Given the description of an element on the screen output the (x, y) to click on. 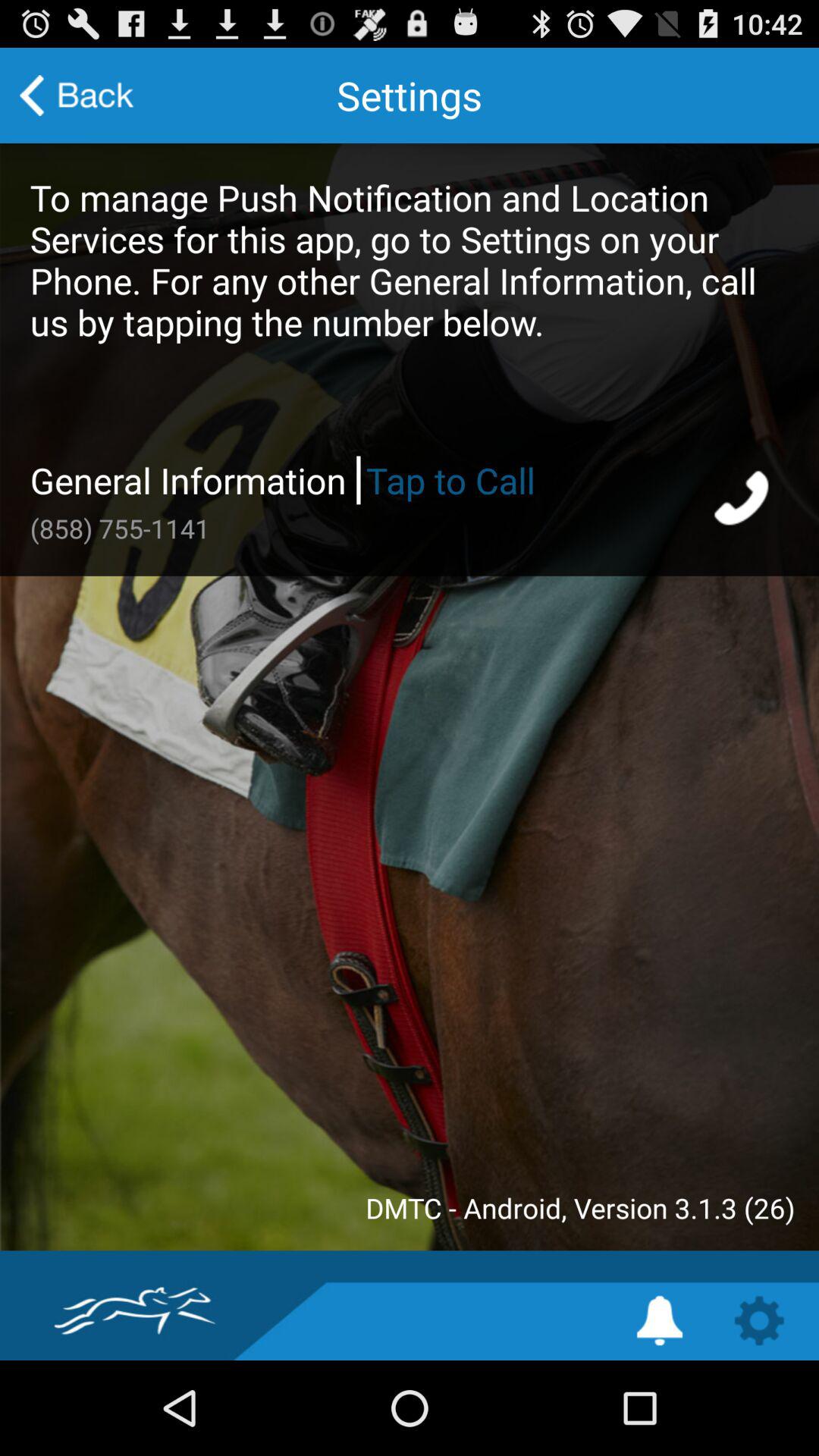
go to the setting (659, 1320)
